Given the description of an element on the screen output the (x, y) to click on. 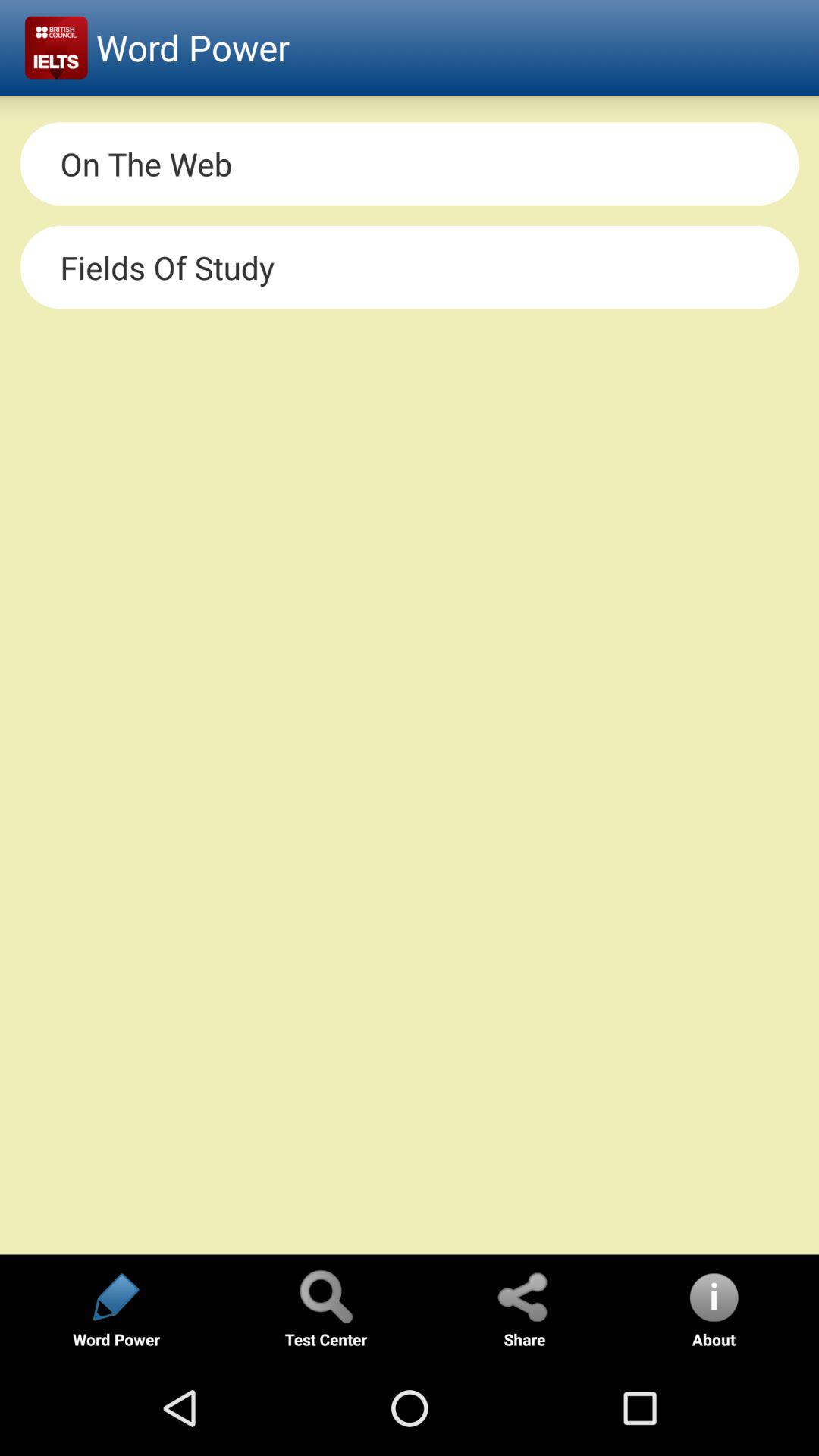
find test center (325, 1296)
